Given the description of an element on the screen output the (x, y) to click on. 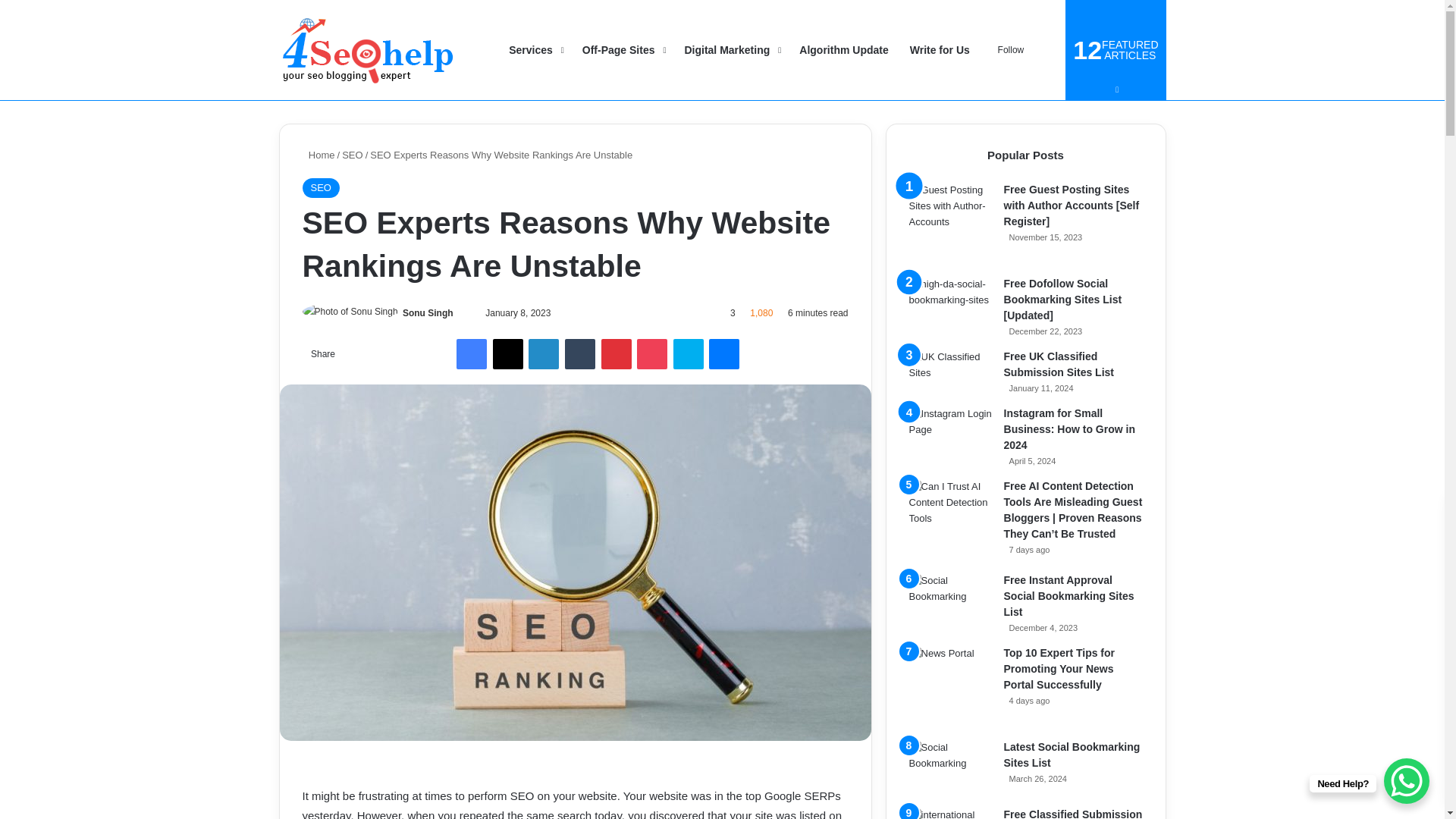
Off-Page Sites (623, 49)
4 SEO Help (368, 50)
Sonu Singh (427, 312)
Digital Marketing (730, 49)
